Given the description of an element on the screen output the (x, y) to click on. 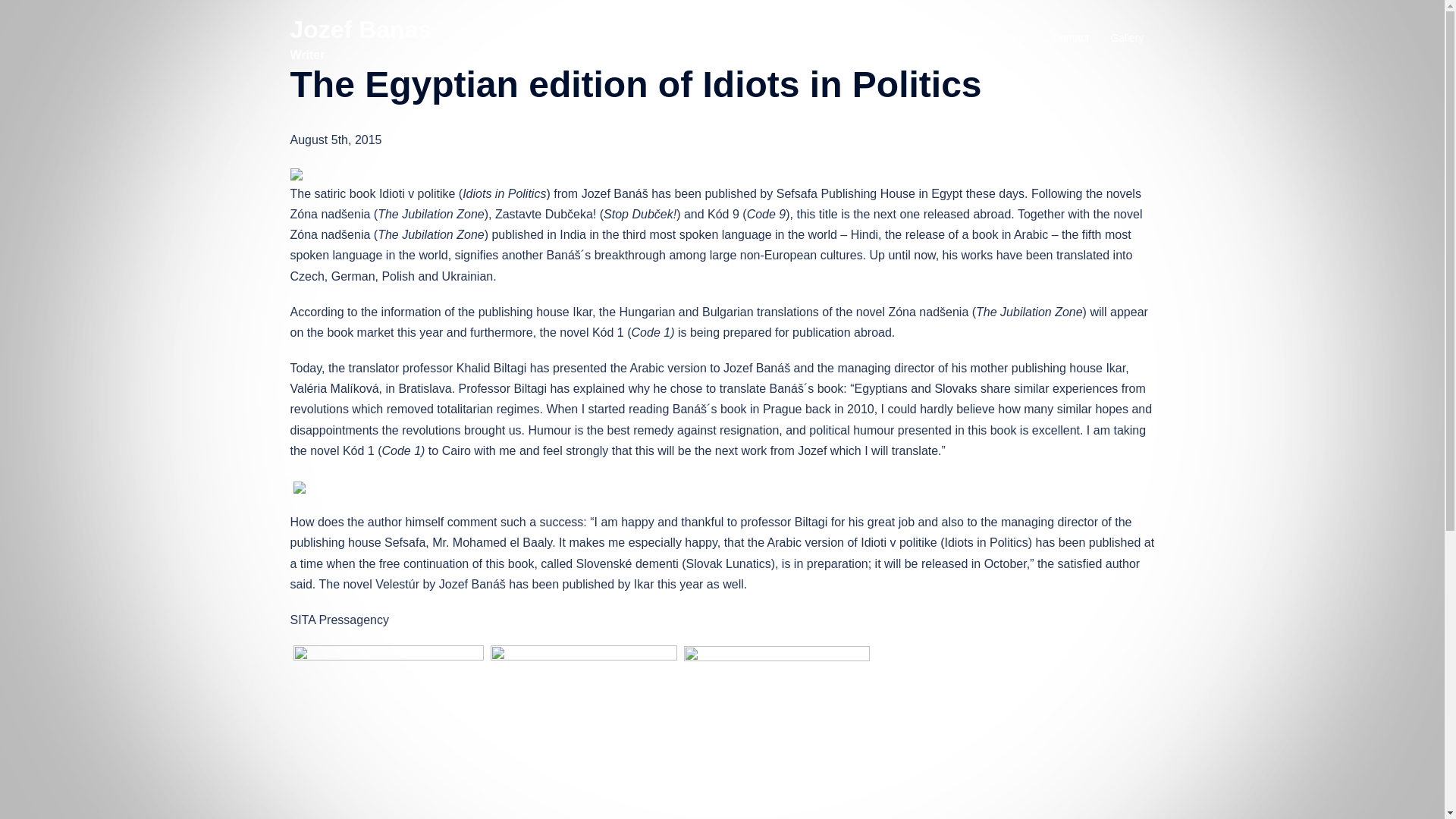
Gallery (1125, 38)
Jozef Banas (359, 29)
Novels (839, 38)
More Books (904, 38)
Jozef (686, 38)
News (1017, 38)
The Code Trilogy (761, 38)
Contact (1070, 38)
Home (638, 38)
Media (969, 38)
